Given the description of an element on the screen output the (x, y) to click on. 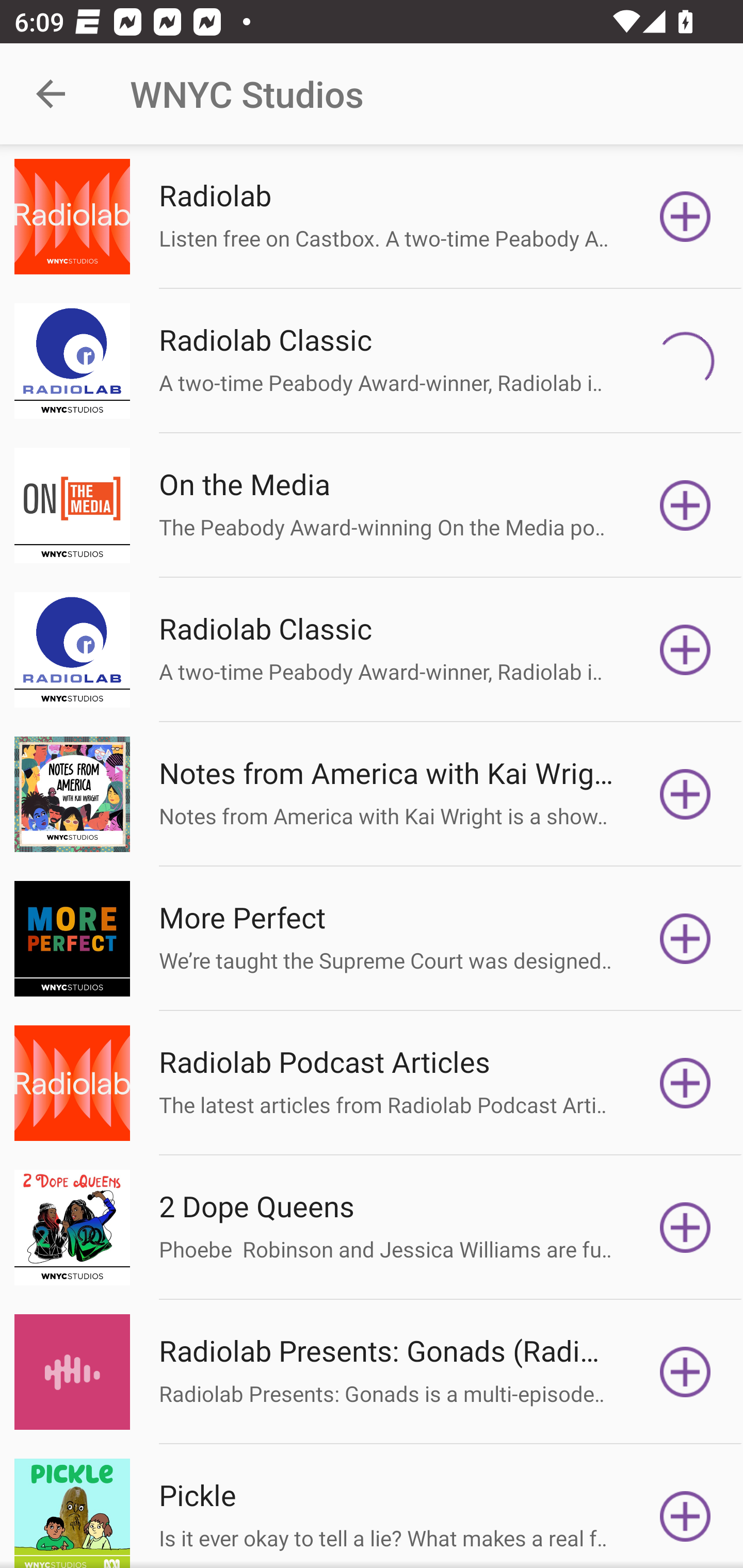
Navigate up (50, 93)
Subscribe (685, 216)
Subscribe (685, 360)
Subscribe (685, 505)
Subscribe (685, 649)
Subscribe (685, 793)
Subscribe (685, 939)
Subscribe (685, 1083)
Subscribe (685, 1227)
Subscribe (685, 1371)
Subscribe (685, 1513)
